Given the description of an element on the screen output the (x, y) to click on. 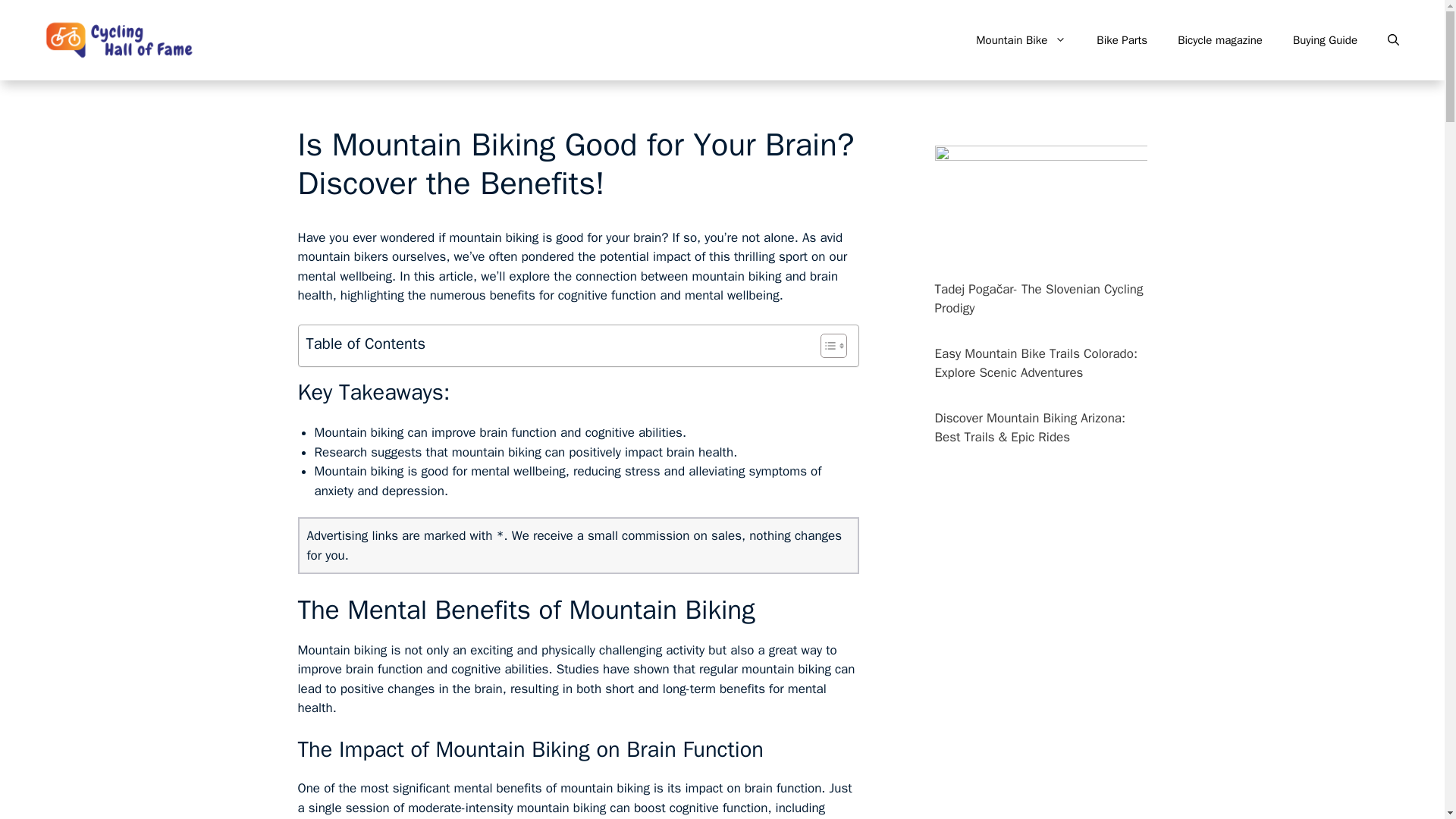
Bike Parts (1121, 40)
Buying Guide (1325, 40)
Mountain Bike (1020, 40)
Bicycle magazine (1219, 40)
